Given the description of an element on the screen output the (x, y) to click on. 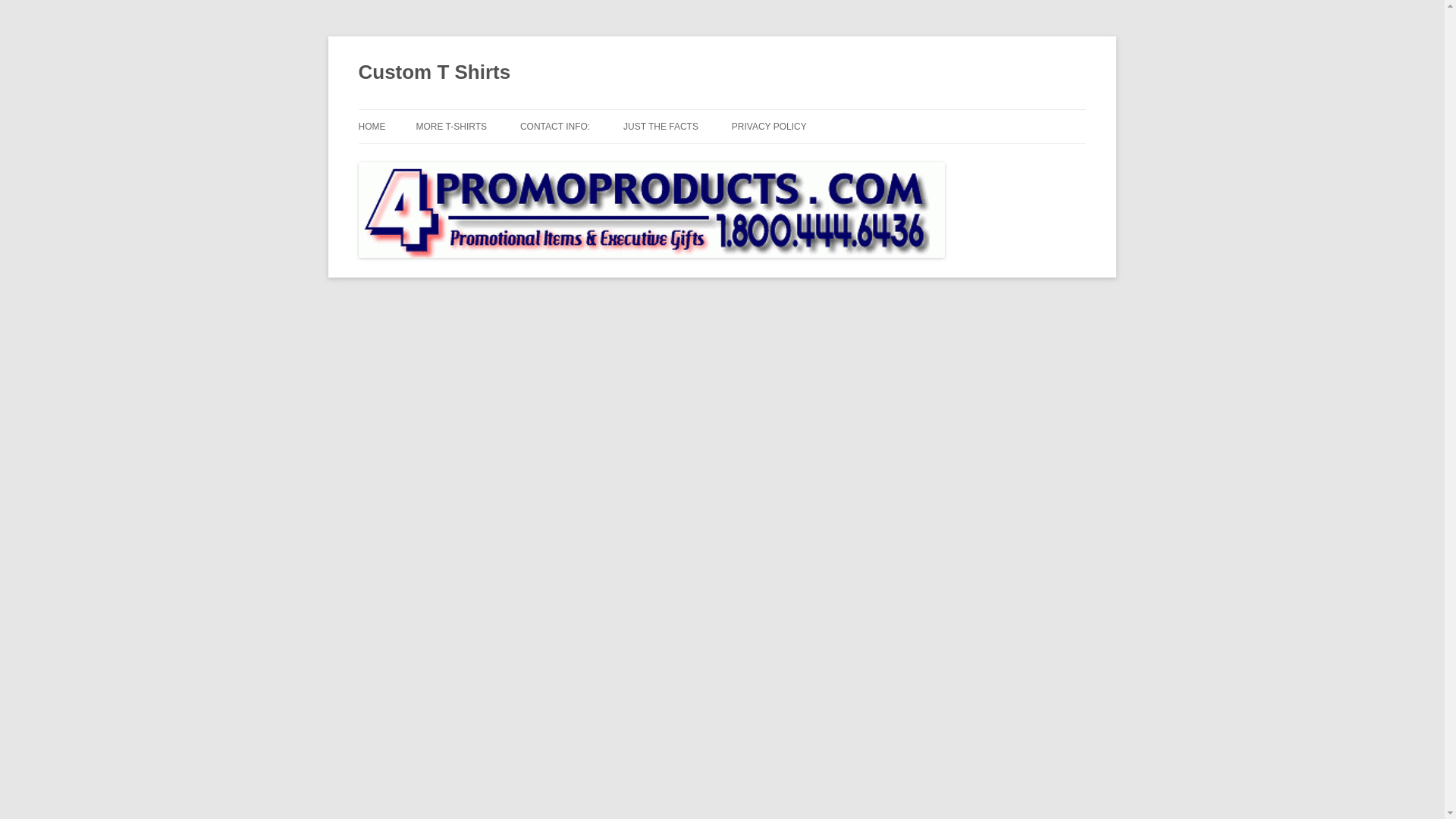
PRIVACY POLICY (769, 126)
Custom T Shirts (434, 72)
JUST THE FACTS (660, 126)
CONTACT INFO: (554, 126)
MORE T-SHIRTS (450, 126)
Custom T Shirts (434, 72)
